Given the description of an element on the screen output the (x, y) to click on. 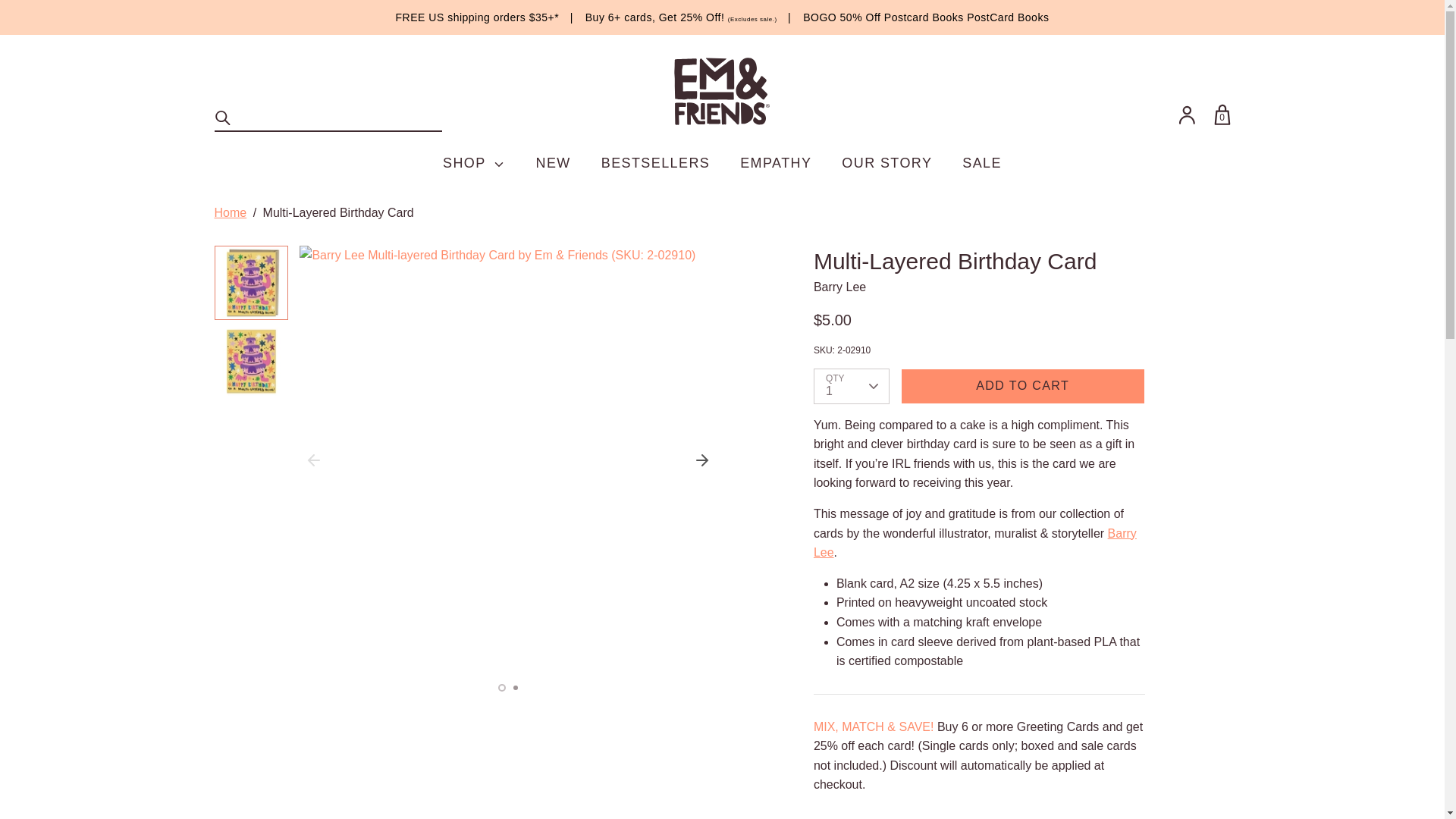
SHOP (473, 163)
Search (222, 117)
Meet Barry Lee (975, 543)
Home (230, 212)
